Given the description of an element on the screen output the (x, y) to click on. 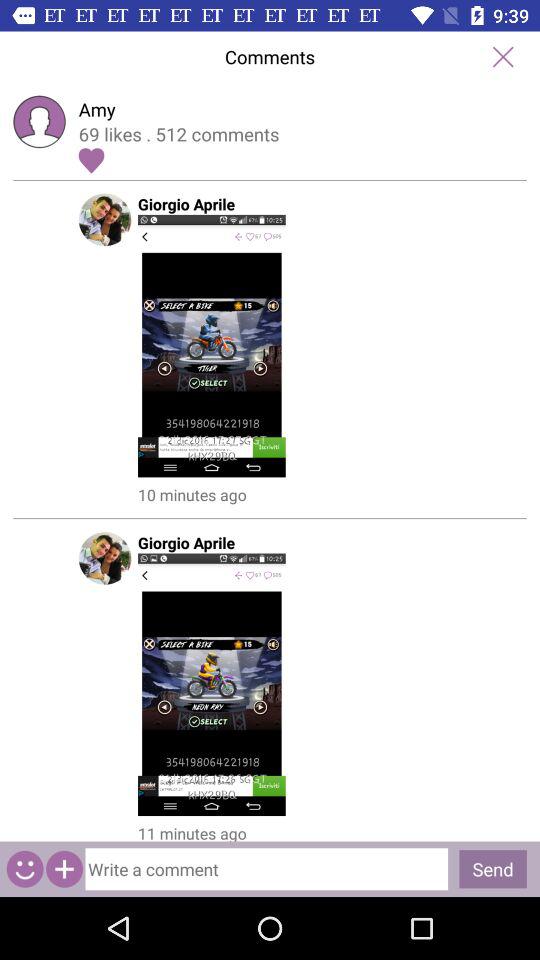
add content (64, 868)
